Given the description of an element on the screen output the (x, y) to click on. 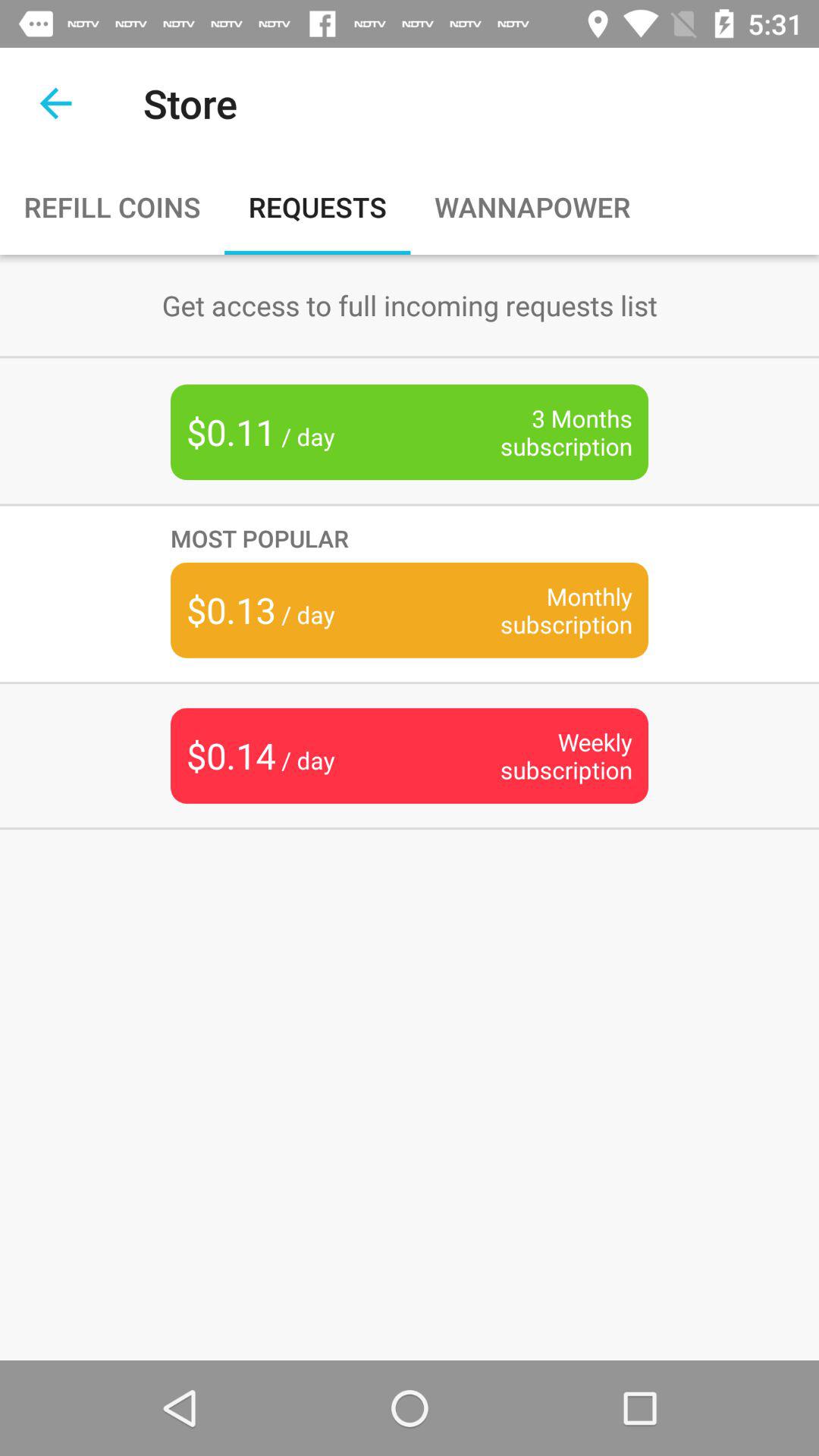
click the item next to the $0.13 / day icon (543, 610)
